Given the description of an element on the screen output the (x, y) to click on. 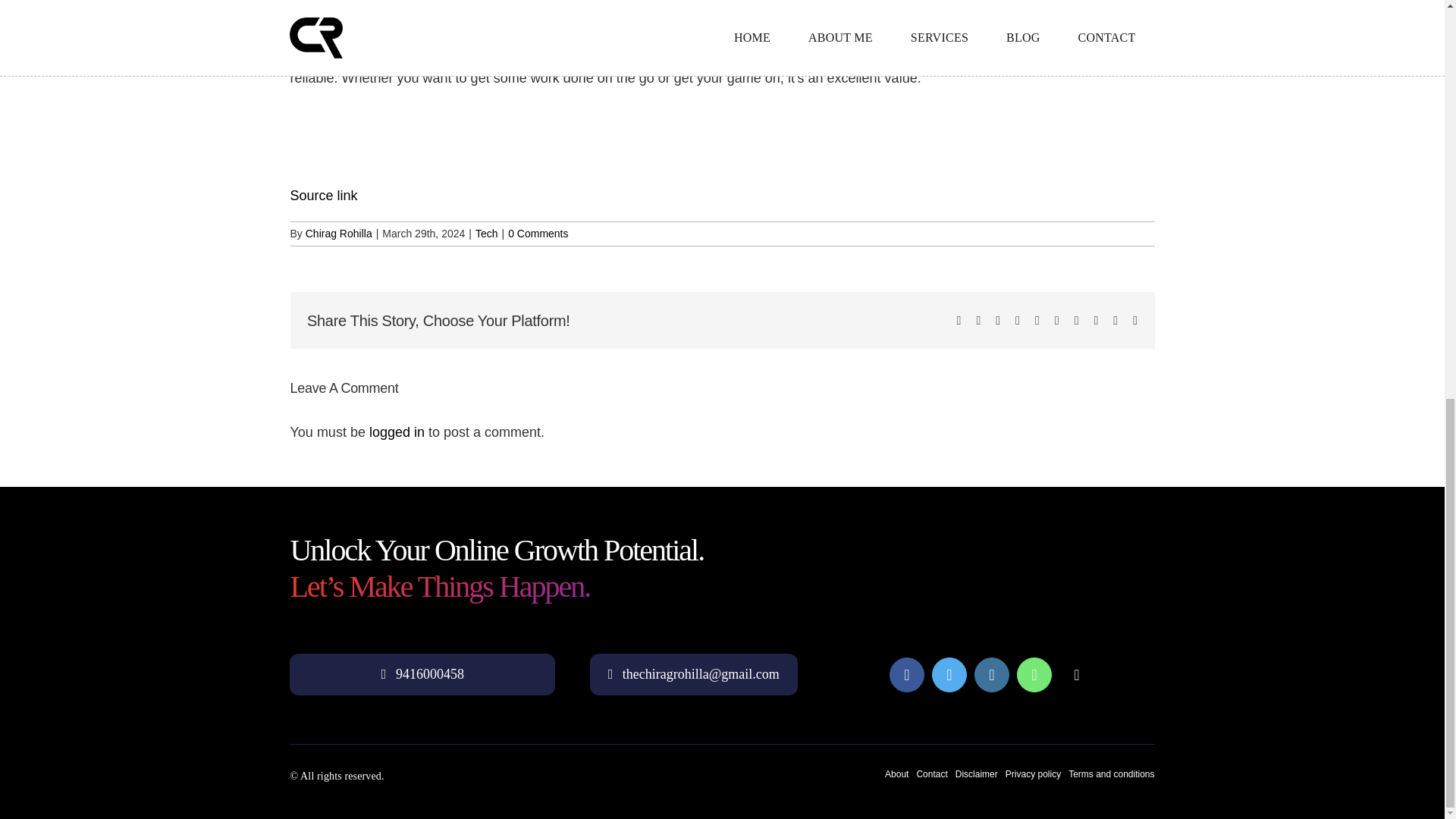
Posts by Chirag Rohilla (338, 233)
Chirag Rohilla (338, 233)
Facebook (906, 674)
0 Comments (537, 233)
Source link (322, 195)
logged in (397, 432)
9416000458 (421, 674)
Twitter (948, 674)
About (896, 774)
Tech (486, 233)
